Given the description of an element on the screen output the (x, y) to click on. 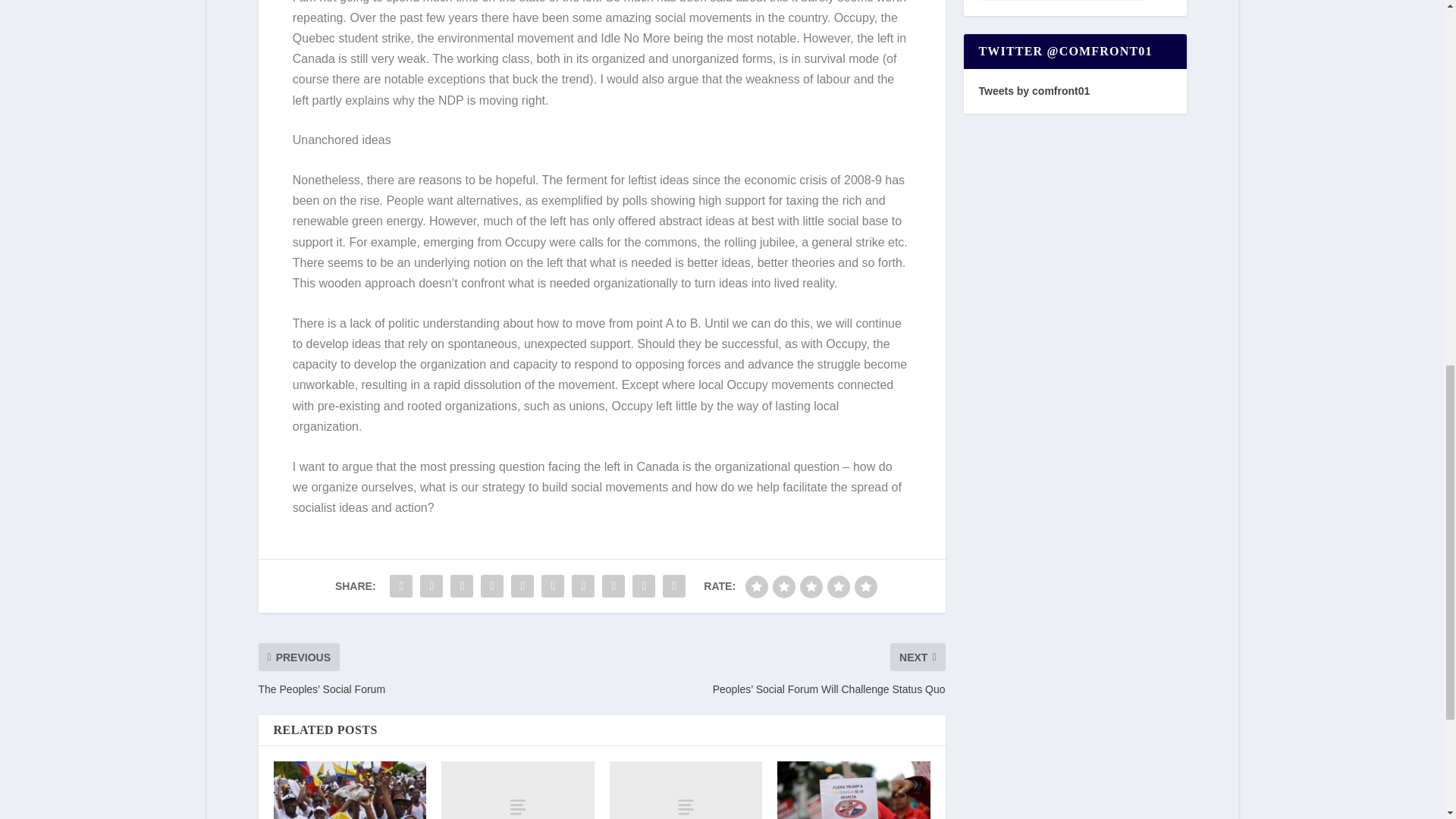
gorgeous (865, 586)
poor (783, 586)
good (838, 586)
bad (756, 586)
regular (810, 586)
